Given the description of an element on the screen output the (x, y) to click on. 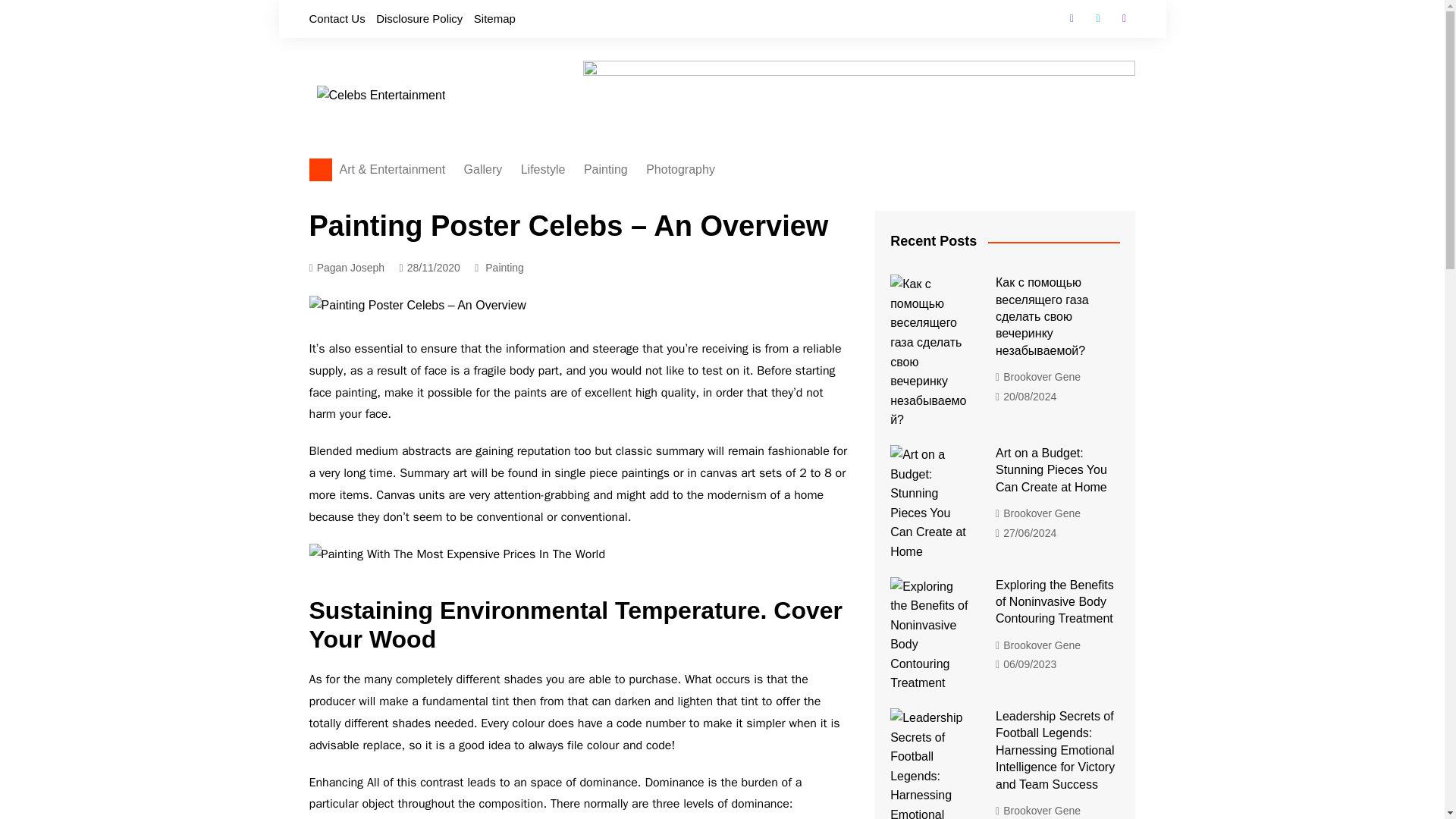
Painting Poster Celebs - An Overview (416, 305)
Painting (504, 267)
Sitemap (494, 18)
Gallery (484, 169)
Facebook (1072, 18)
Twitter (1097, 18)
Pagan Joseph (346, 267)
Photography (680, 169)
Contact Us (336, 18)
Painting Poster Celebs - An Overview (456, 554)
